Given the description of an element on the screen output the (x, y) to click on. 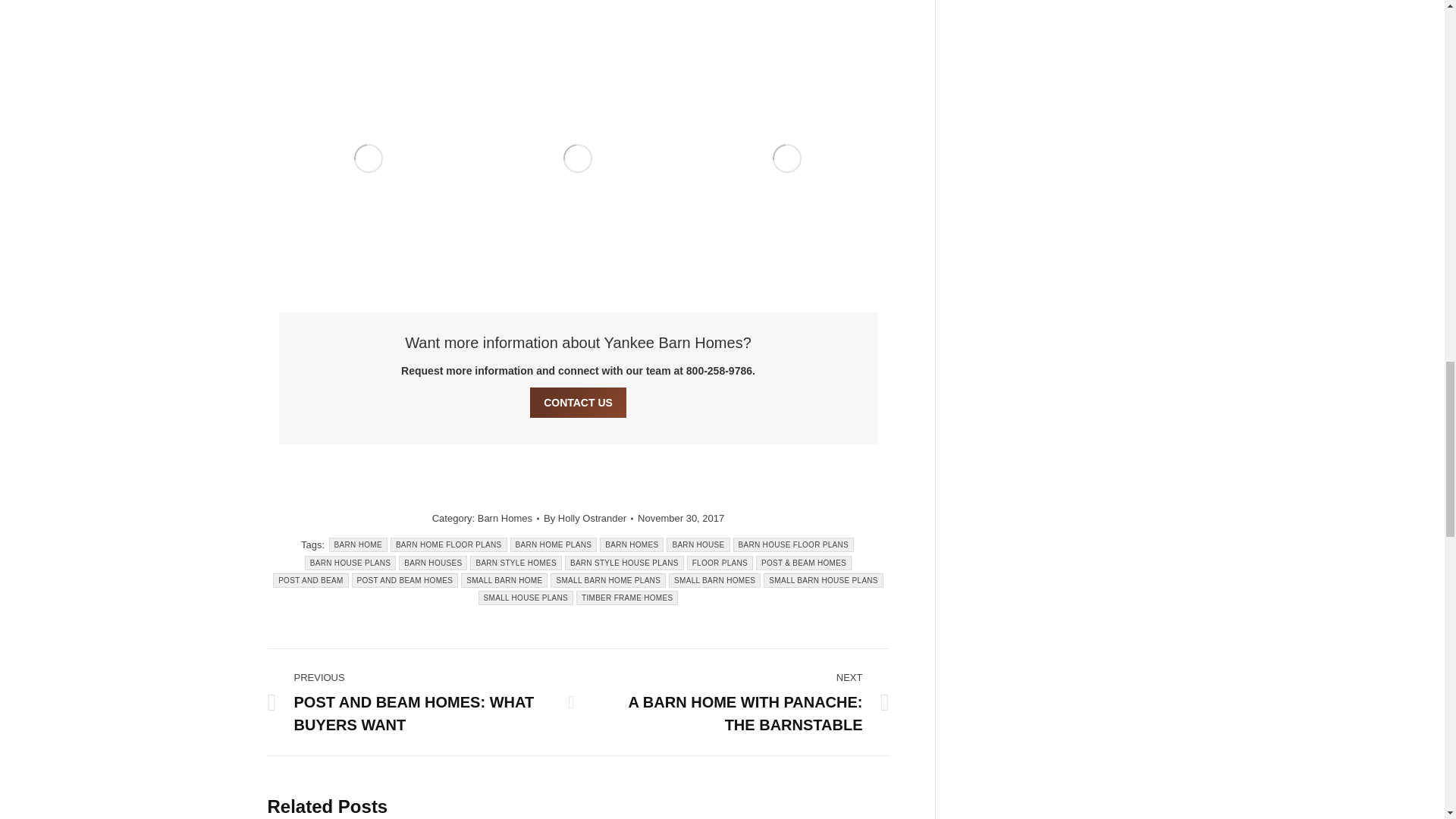
Eastman-House-Kitchen-e1538677124935 (367, 24)
